Given the description of an element on the screen output the (x, y) to click on. 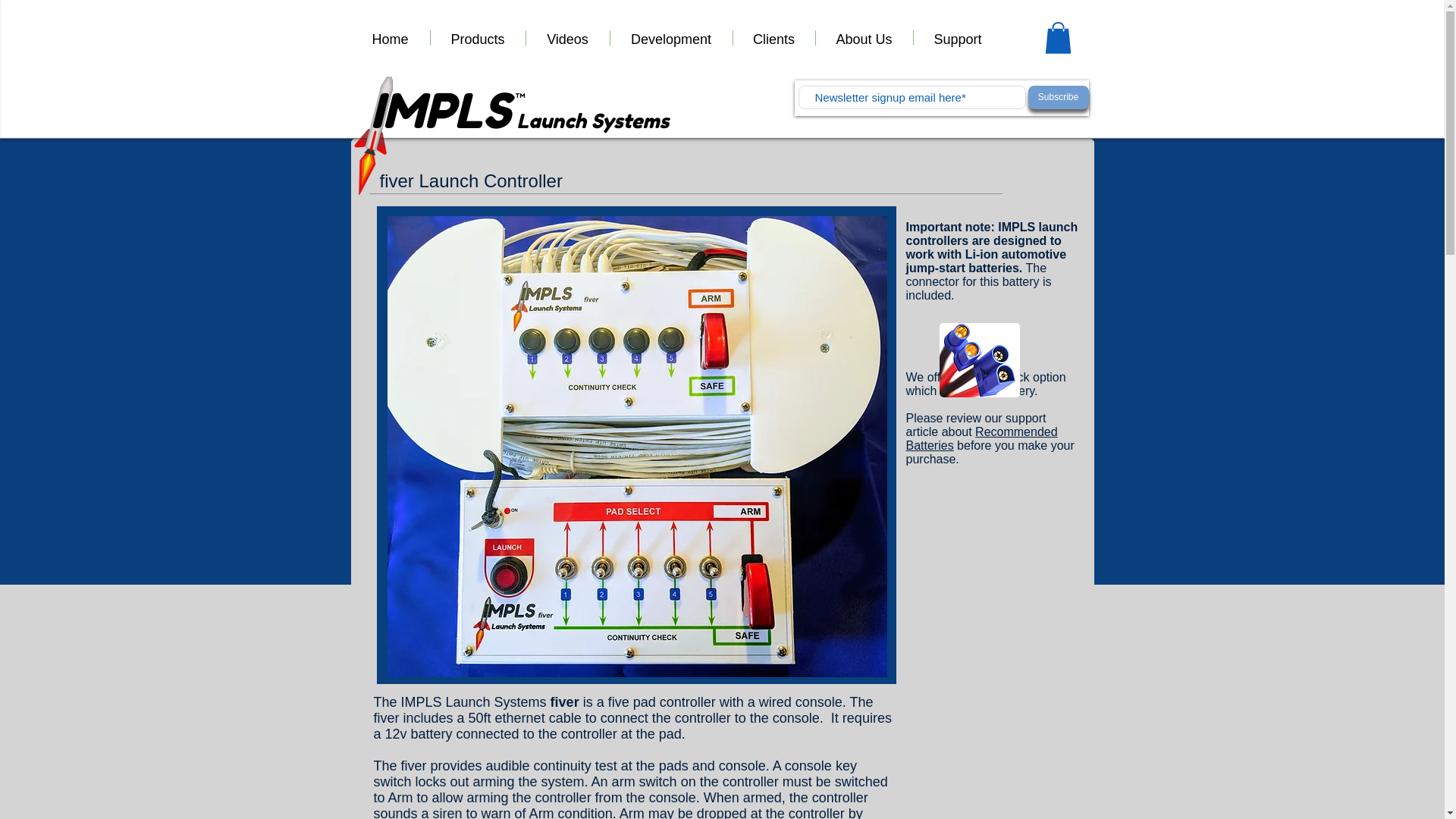
Products (477, 37)
Clients (772, 37)
Recommended Batteries (981, 438)
Videos (567, 37)
Support (956, 37)
Subscribe (1058, 96)
About Us (863, 37)
Home (389, 37)
Development (671, 37)
